Given the description of an element on the screen output the (x, y) to click on. 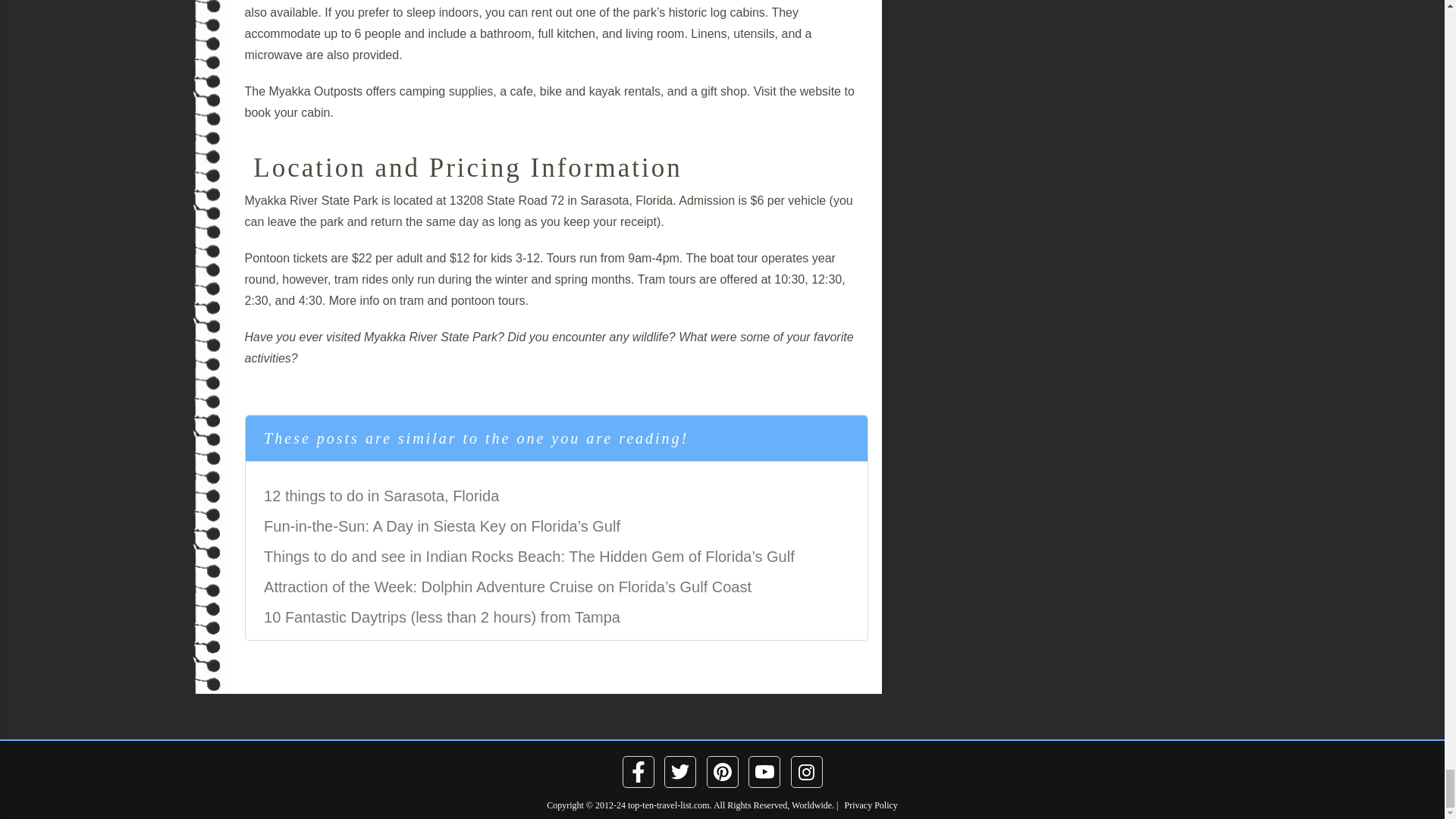
Top Ten Travel List on Youtube (763, 771)
Top Ten Travel List on Pinterest (721, 771)
Top Ten Travel List on Facebook (638, 771)
Top Ten Travel List on Instagram (807, 771)
Top Ten Travel List on Twitter (680, 771)
